Given the description of an element on the screen output the (x, y) to click on. 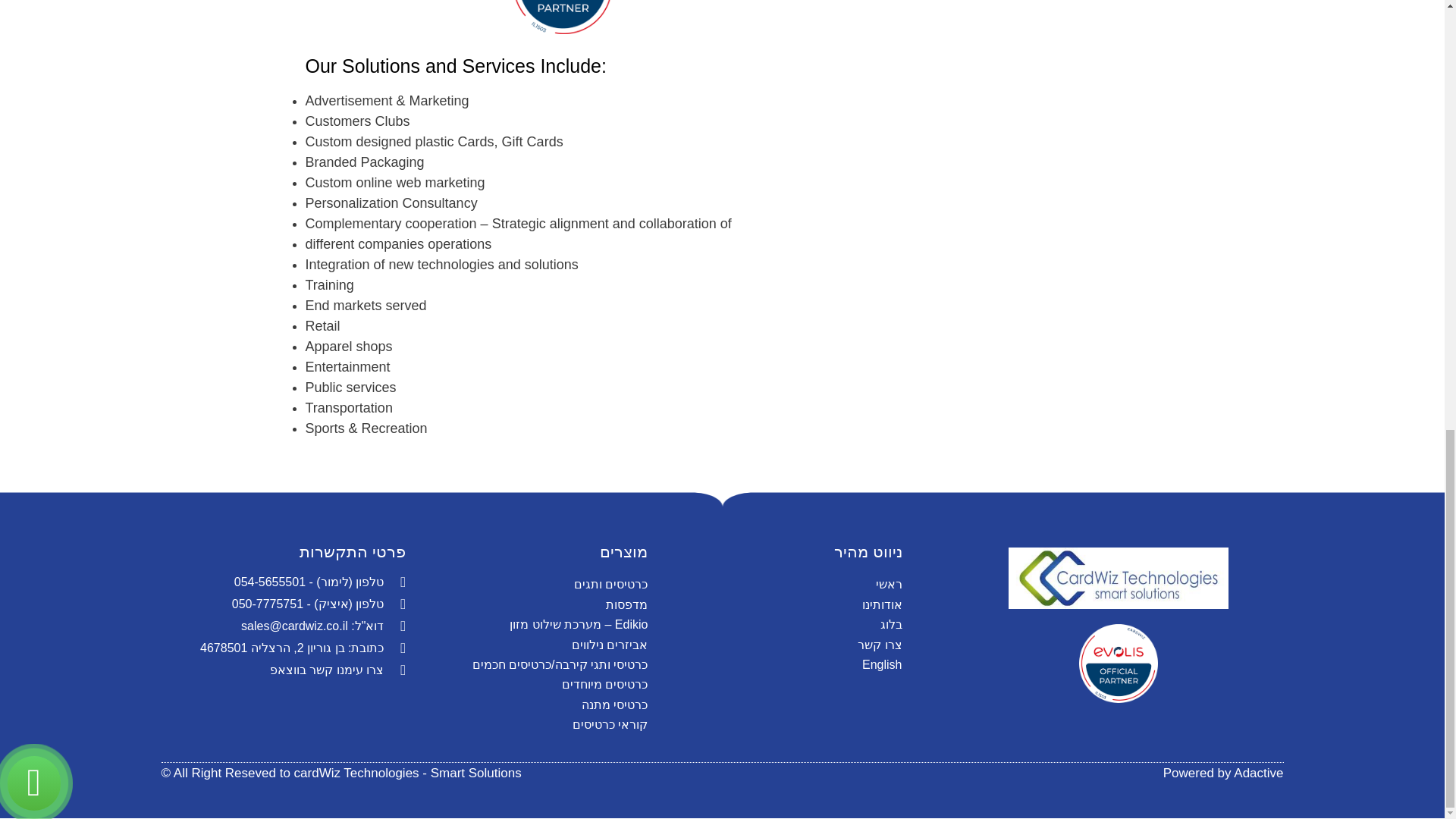
English (785, 664)
